Given the description of an element on the screen output the (x, y) to click on. 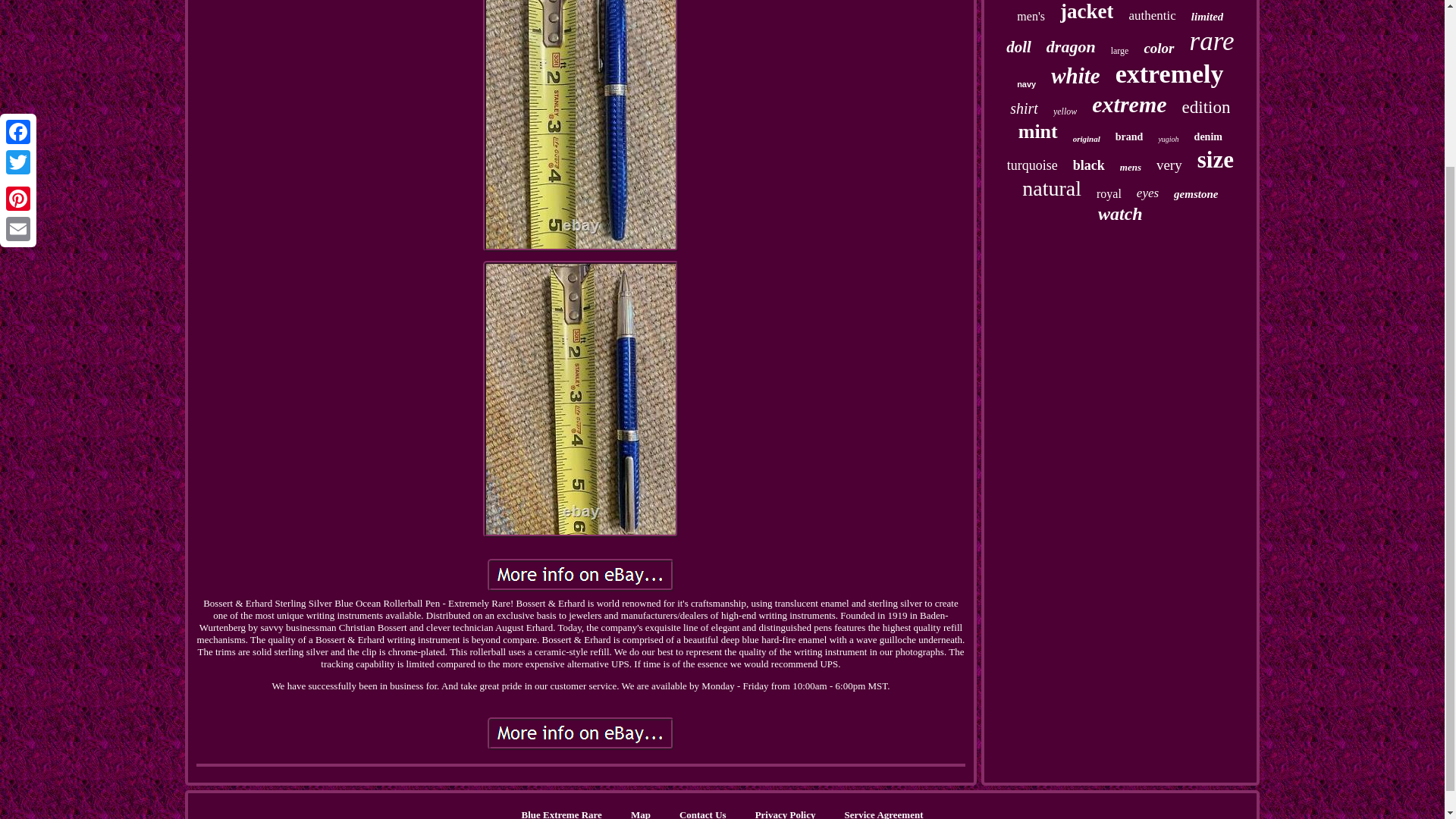
edition (1206, 107)
jacket (1086, 11)
authentic (1151, 15)
dragon (1071, 46)
men's (1030, 16)
Pinterest (17, 4)
mint (1037, 131)
original (1086, 138)
shirt (1024, 108)
extremely (1169, 73)
yellow (1064, 111)
white (1075, 75)
doll (1018, 46)
Email (17, 24)
rare (1211, 41)
